Given the description of an element on the screen output the (x, y) to click on. 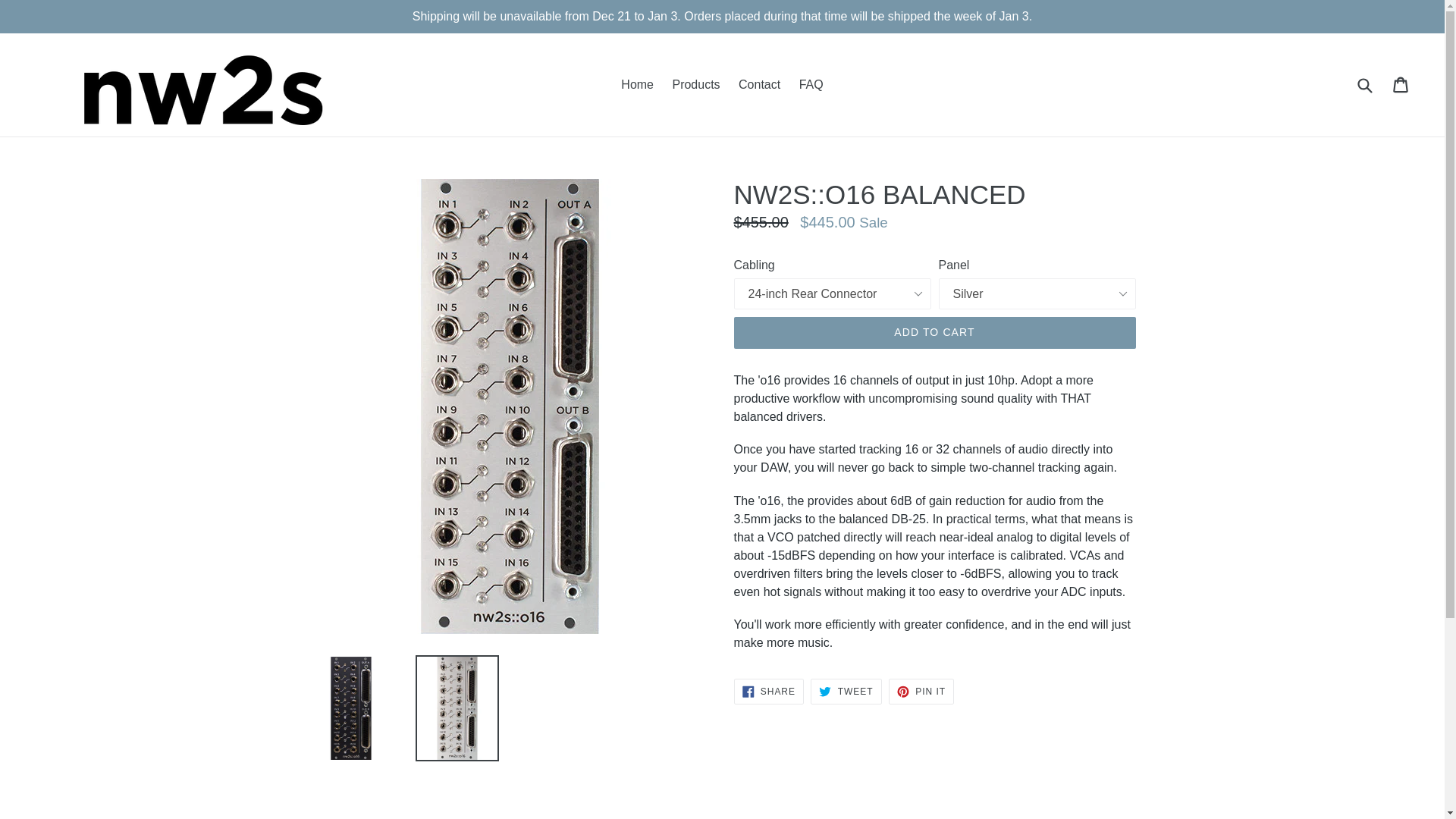
Pin on Pinterest (920, 691)
Share on Facebook (920, 691)
Home (768, 691)
Products (636, 84)
Contact (694, 84)
Tweet on Twitter (768, 691)
FAQ (845, 691)
ADD TO CART (758, 84)
